Given the description of an element on the screen output the (x, y) to click on. 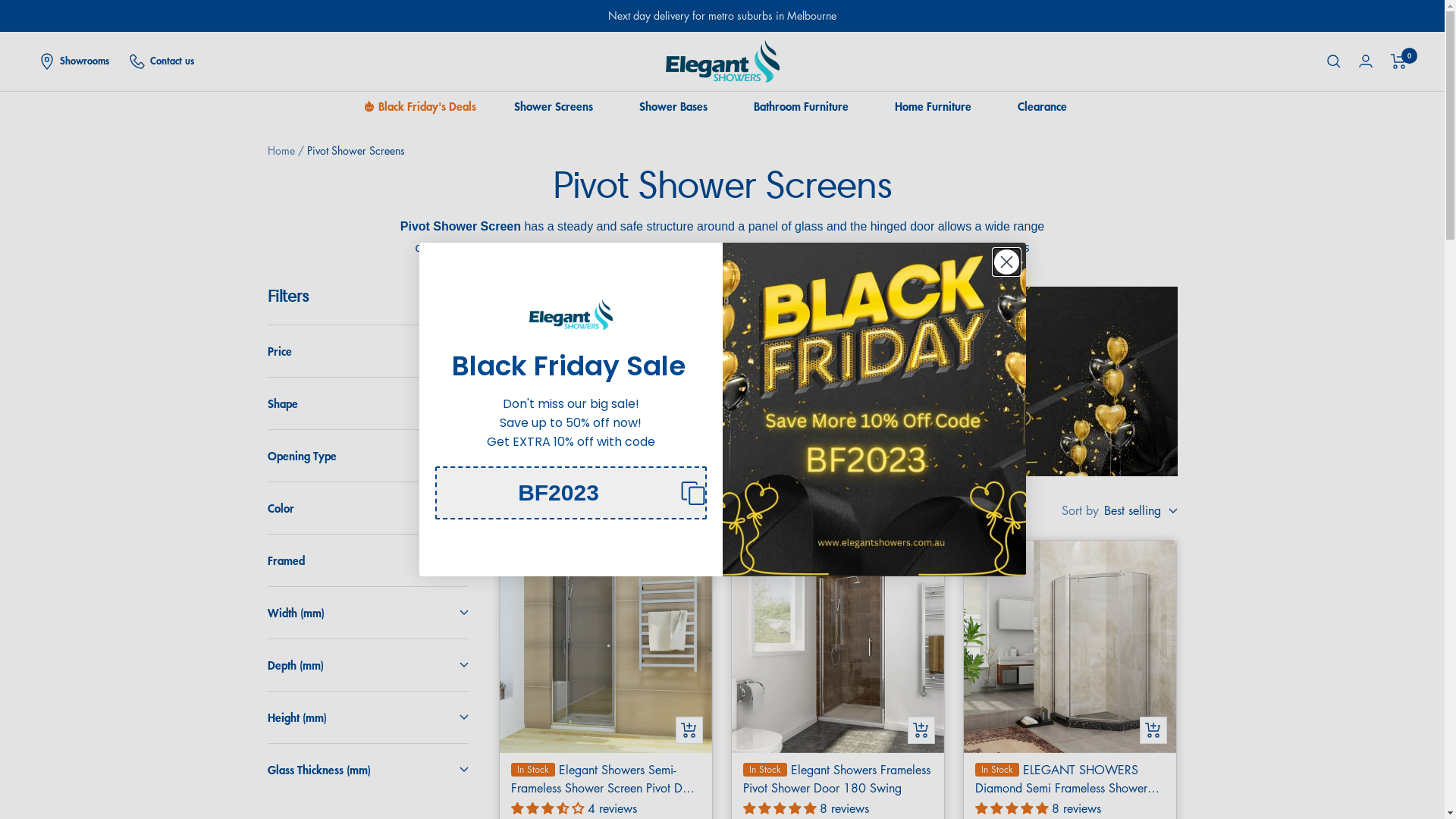
Halloween Sale from ELEGANTSHOWERS Element type: hover (873, 409)
Contact us Element type: text (161, 61)
Quick view Element type: text (1153, 729)
Black Friday's Deals Element type: text (426, 106)
Clearance Element type: text (1041, 106)
In StockELEGANT SHOWERS Diamond Semi Frameless Shower Screen Element type: text (1069, 778)
Showrooms Element type: text (73, 61)
Framed Element type: text (366, 560)
0 Element type: text (1398, 61)
Width (mm) Element type: text (366, 612)
Quick view Element type: text (921, 729)
Opening Type Element type: text (366, 455)
Height (mm) Element type: text (366, 717)
Color Element type: text (366, 507)
Best selling Element type: text (1140, 510)
Elegant Showers AU Element type: text (722, 61)
Close dialog 1 Element type: text (1006, 261)
Price Element type: text (366, 350)
Depth (mm) Element type: text (366, 664)
Glass Thickness (mm) Element type: text (366, 769)
Home Element type: text (280, 149)
Quick view Element type: text (688, 729)
Submit Element type: text (17, 8)
Shape Element type: text (366, 403)
